Given the description of an element on the screen output the (x, y) to click on. 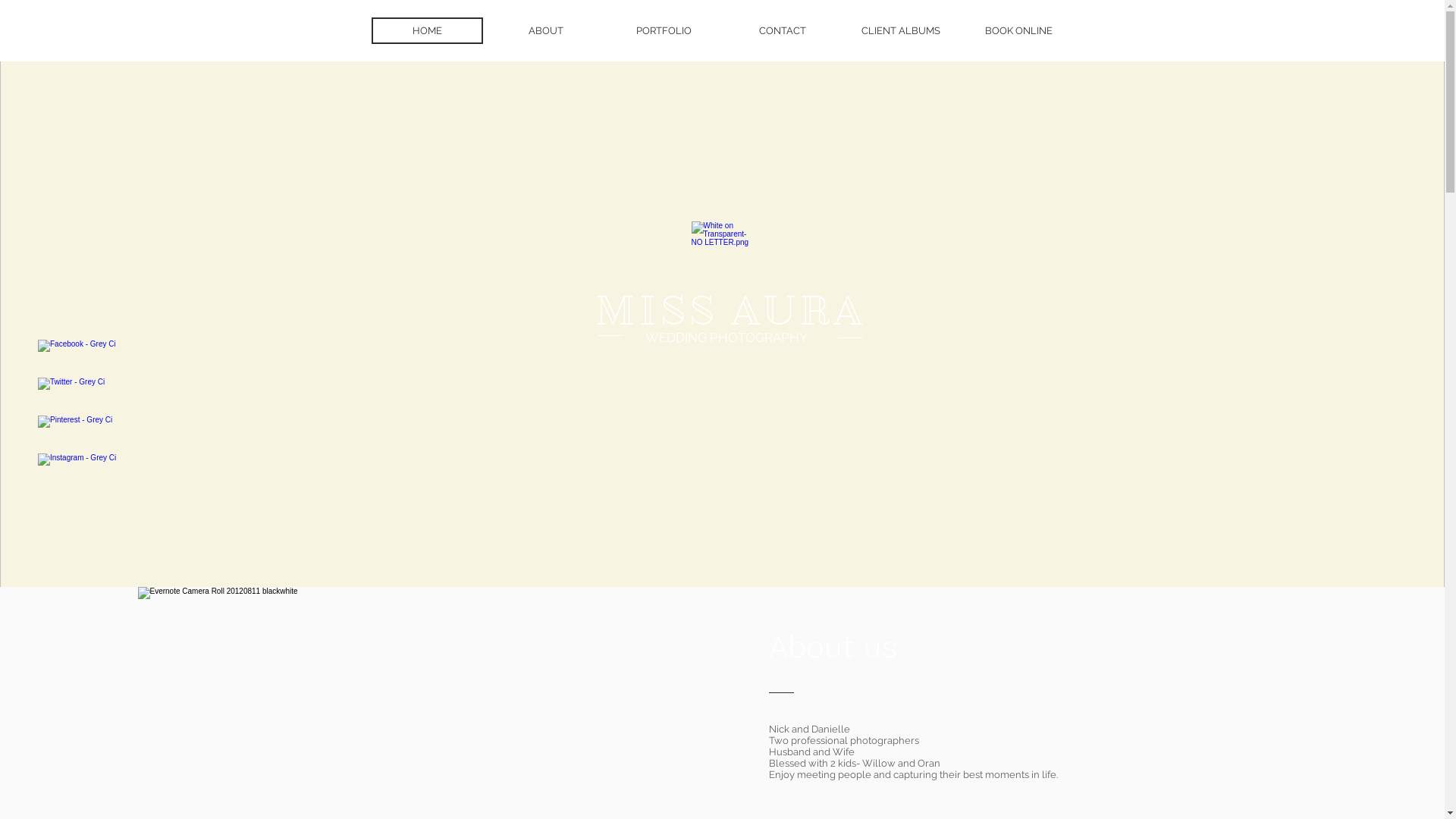
CLIENT ALBUMS Element type: text (899, 30)
WEDDING PHOTOGRAPHY Element type: text (725, 337)
PORTFOLIO Element type: text (663, 30)
MISS AURA Element type: text (729, 310)
HOME Element type: text (427, 30)
ABOUT Element type: text (544, 30)
CONTACT Element type: text (781, 30)
BOOK ONLINE Element type: text (1018, 30)
